Given the description of an element on the screen output the (x, y) to click on. 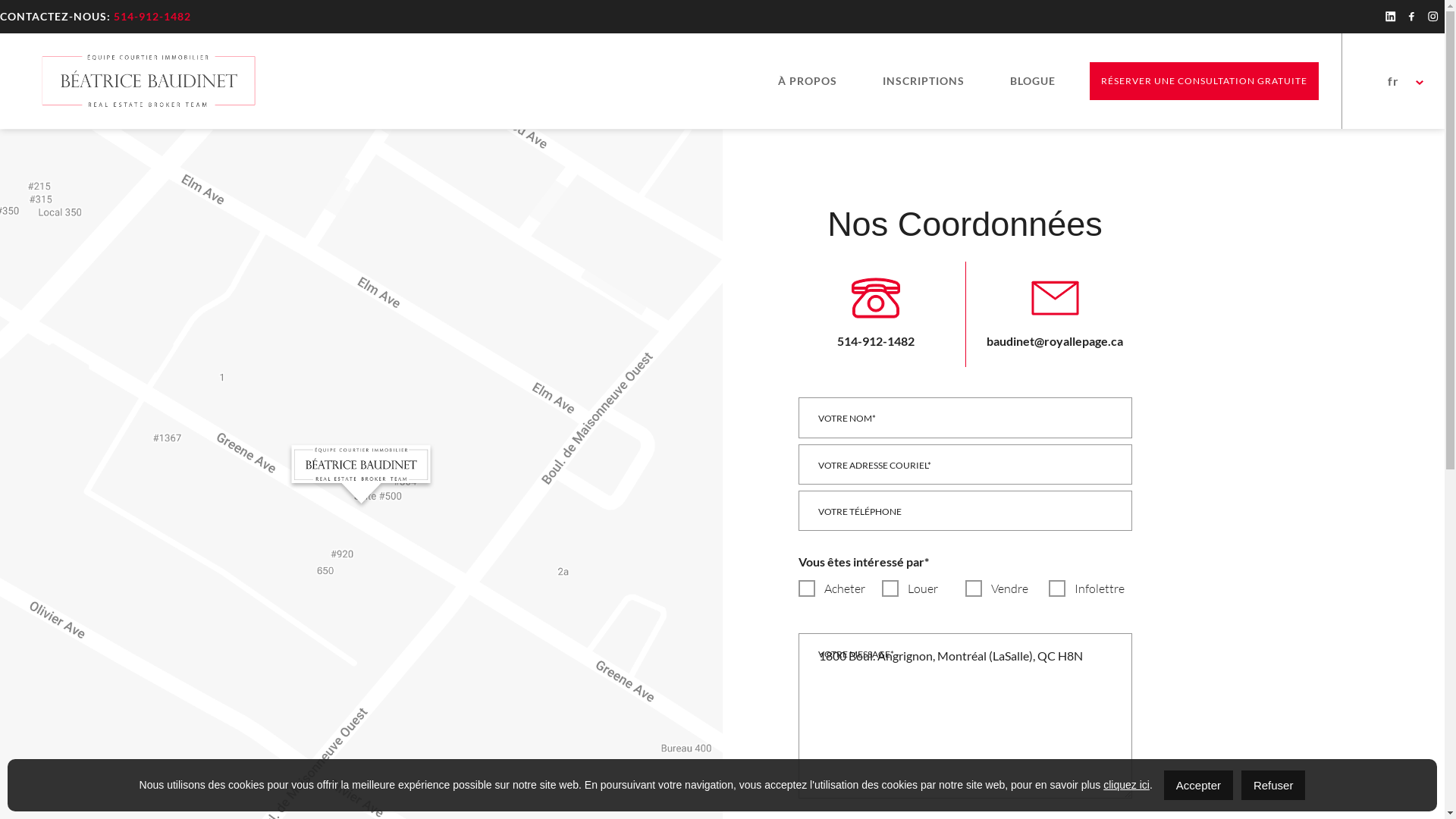
Accepter Element type: text (1198, 785)
514-912-1482 Element type: text (875, 311)
RLP Heritage Element type: hover (146, 80)
INSCRIPTIONS Element type: text (923, 81)
baudinet@royallepage.ca Element type: text (1054, 311)
Refuser Element type: text (1273, 785)
BLOGUE Element type: text (1032, 81)
cliquez ici Element type: text (1126, 784)
